Given the description of an element on the screen output the (x, y) to click on. 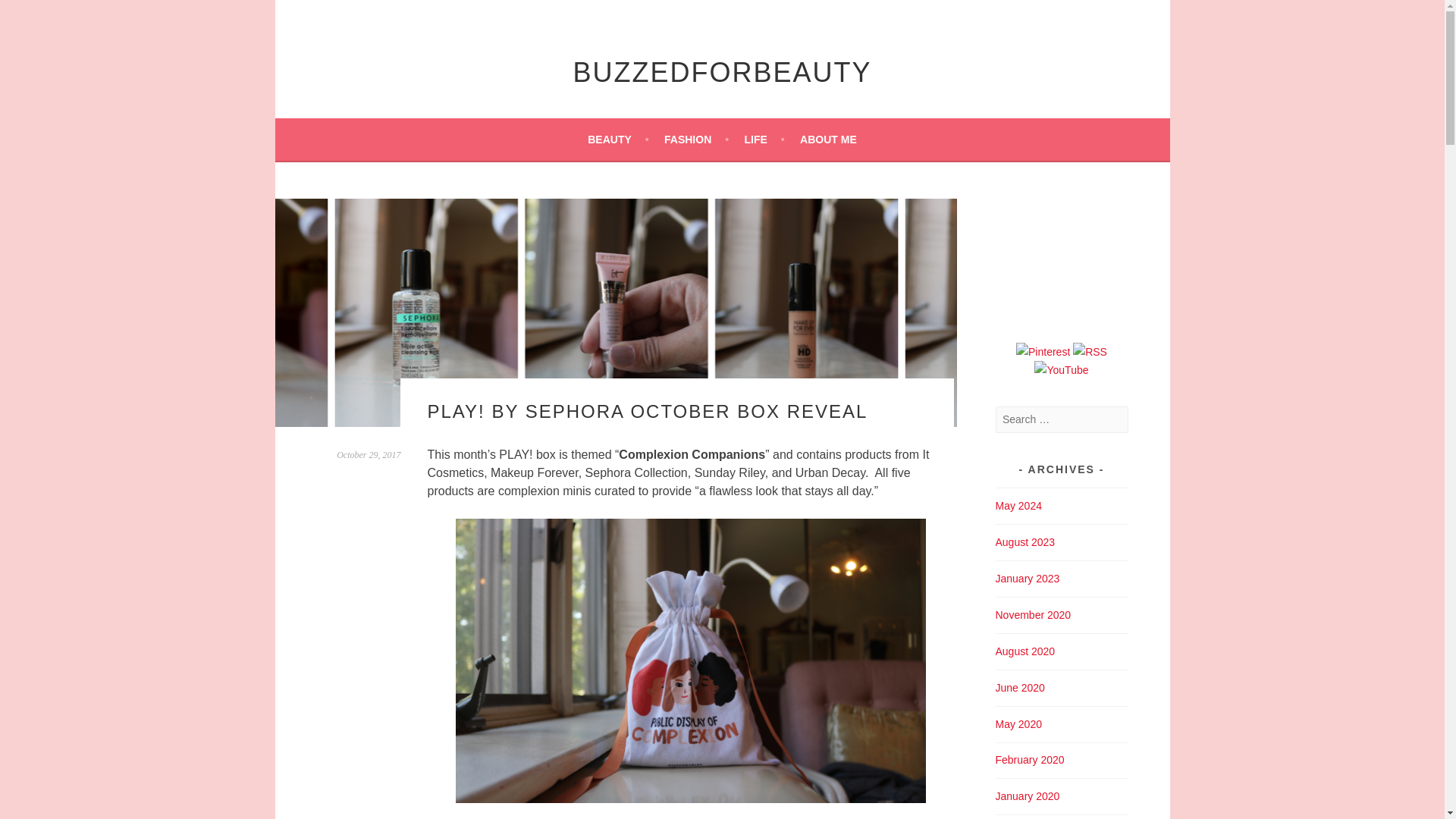
BUZZEDFORBEAUTY (721, 71)
Search (30, 13)
ABOUT ME (828, 139)
November 2020 (1032, 614)
Instagram (1089, 352)
FASHION (696, 139)
Permalink to Play! by Sephora October Box Reveal (368, 454)
October 29, 2017 (368, 454)
August 2023 (1024, 541)
BEAUTY (617, 139)
